Given the description of an element on the screen output the (x, y) to click on. 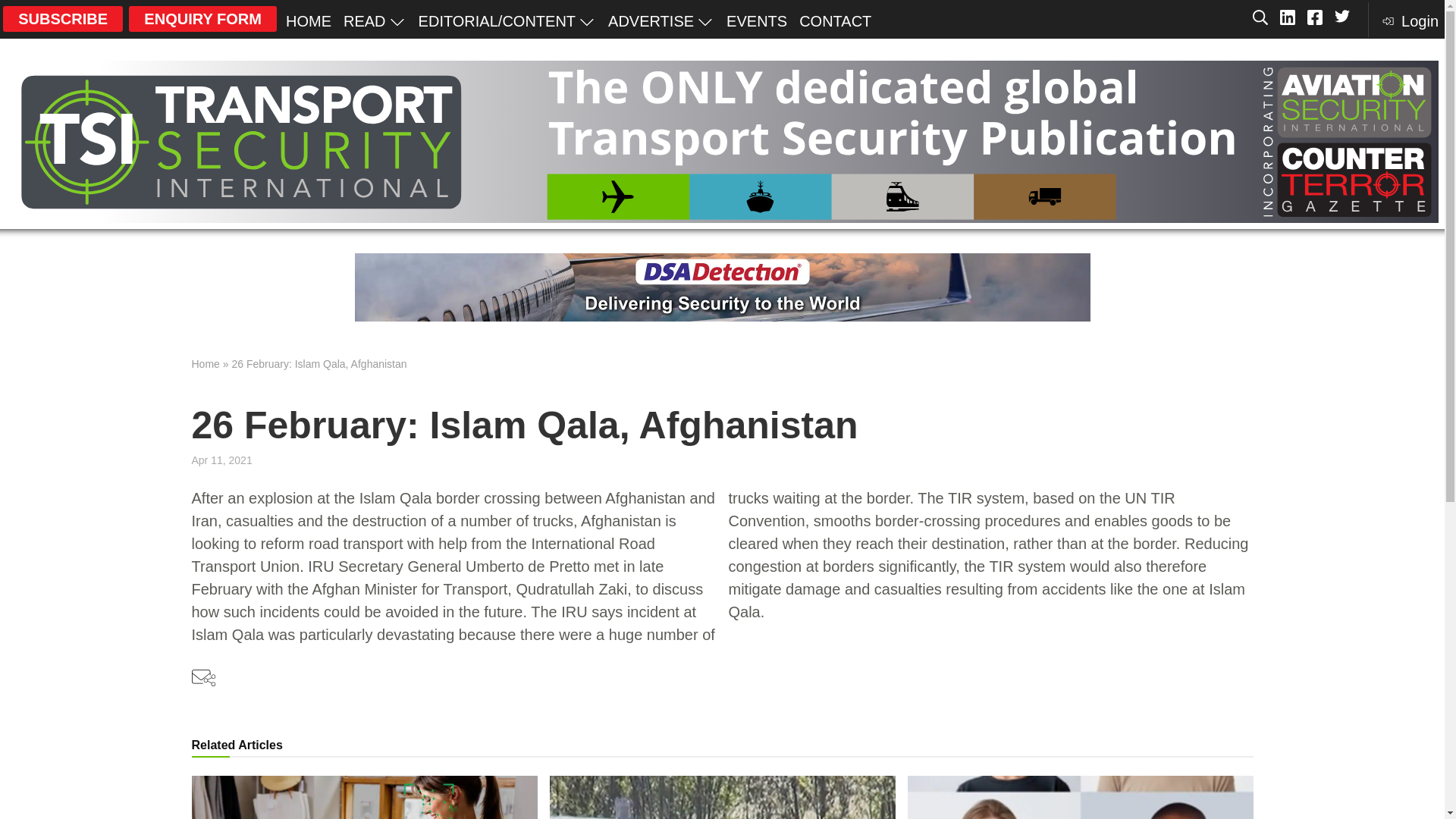
READ (374, 20)
CONTACT (835, 20)
EVENTS (756, 20)
SUBSCRIBE (62, 18)
Share by Email (202, 679)
ADVERTISE (661, 20)
Transport Security International Magazine Facebook Page (1314, 18)
Home (204, 363)
Login (1409, 20)
HOME (308, 20)
ENQUIRY FORM (202, 18)
